Given the description of an element on the screen output the (x, y) to click on. 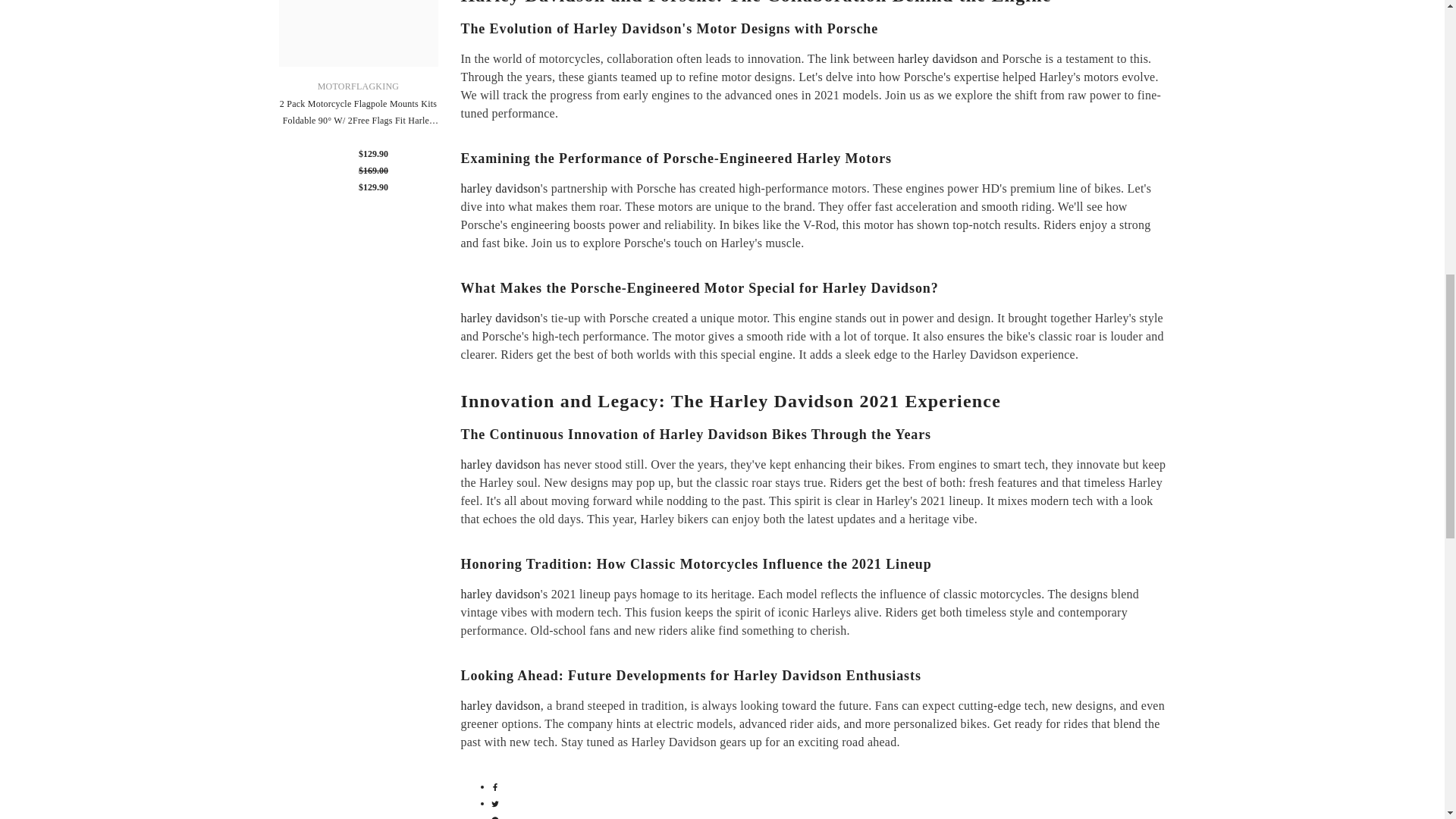
MotorFlagKing (357, 86)
Twitter (495, 802)
Facebook (495, 786)
